Given the description of an element on the screen output the (x, y) to click on. 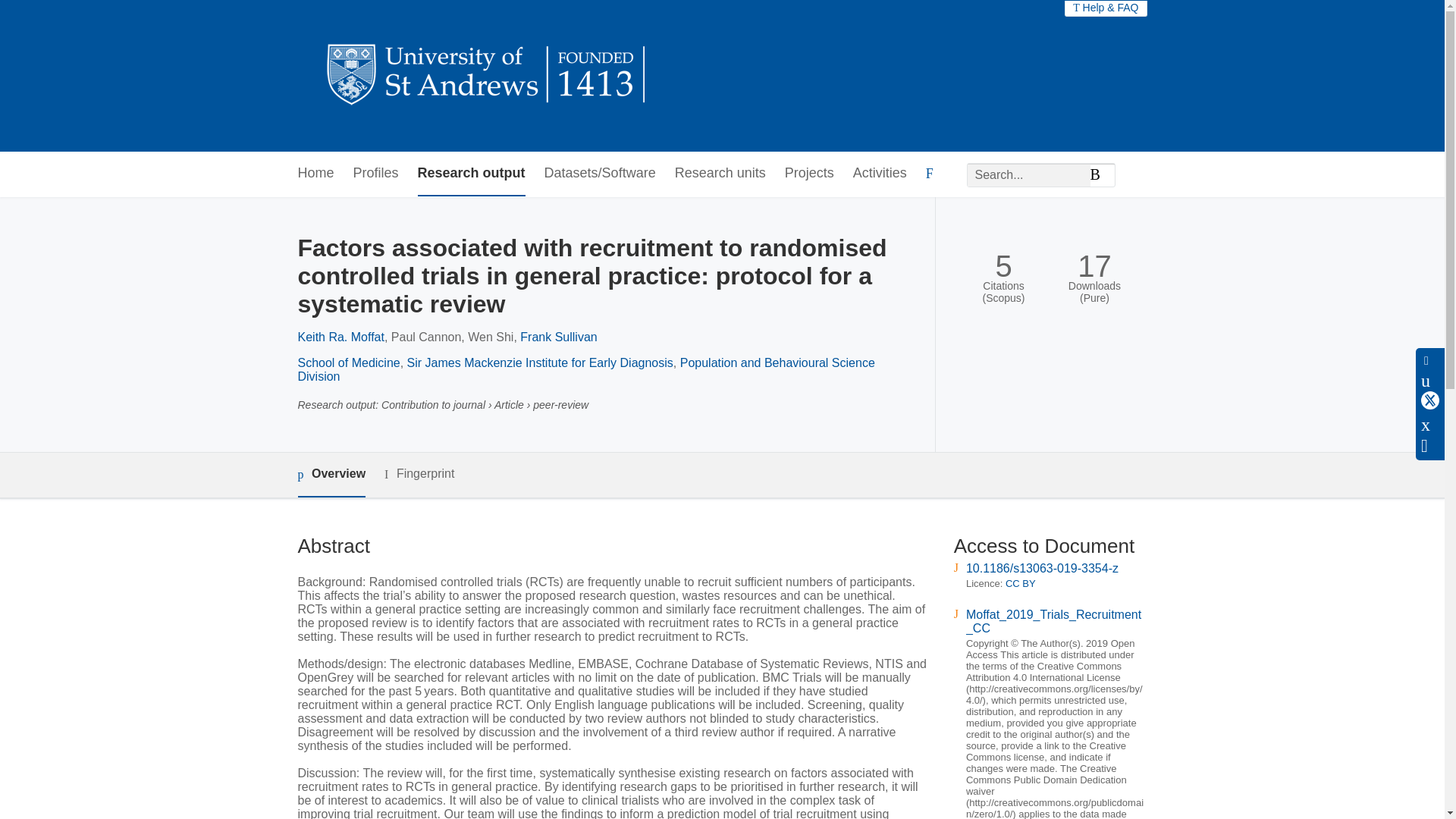
University of St Andrews Research Portal Home (487, 75)
CC BY (1020, 583)
Frank Sullivan (557, 336)
Population and Behavioural Science Division (586, 369)
Research output (471, 173)
School of Medicine (347, 362)
Fingerprint (419, 474)
Projects (809, 173)
Overview (331, 474)
Keith Ra. Moffat (340, 336)
Research units (720, 173)
Profiles (375, 173)
Sir James Mackenzie Institute for Early Diagnosis (539, 362)
Activities (880, 173)
